Given the description of an element on the screen output the (x, y) to click on. 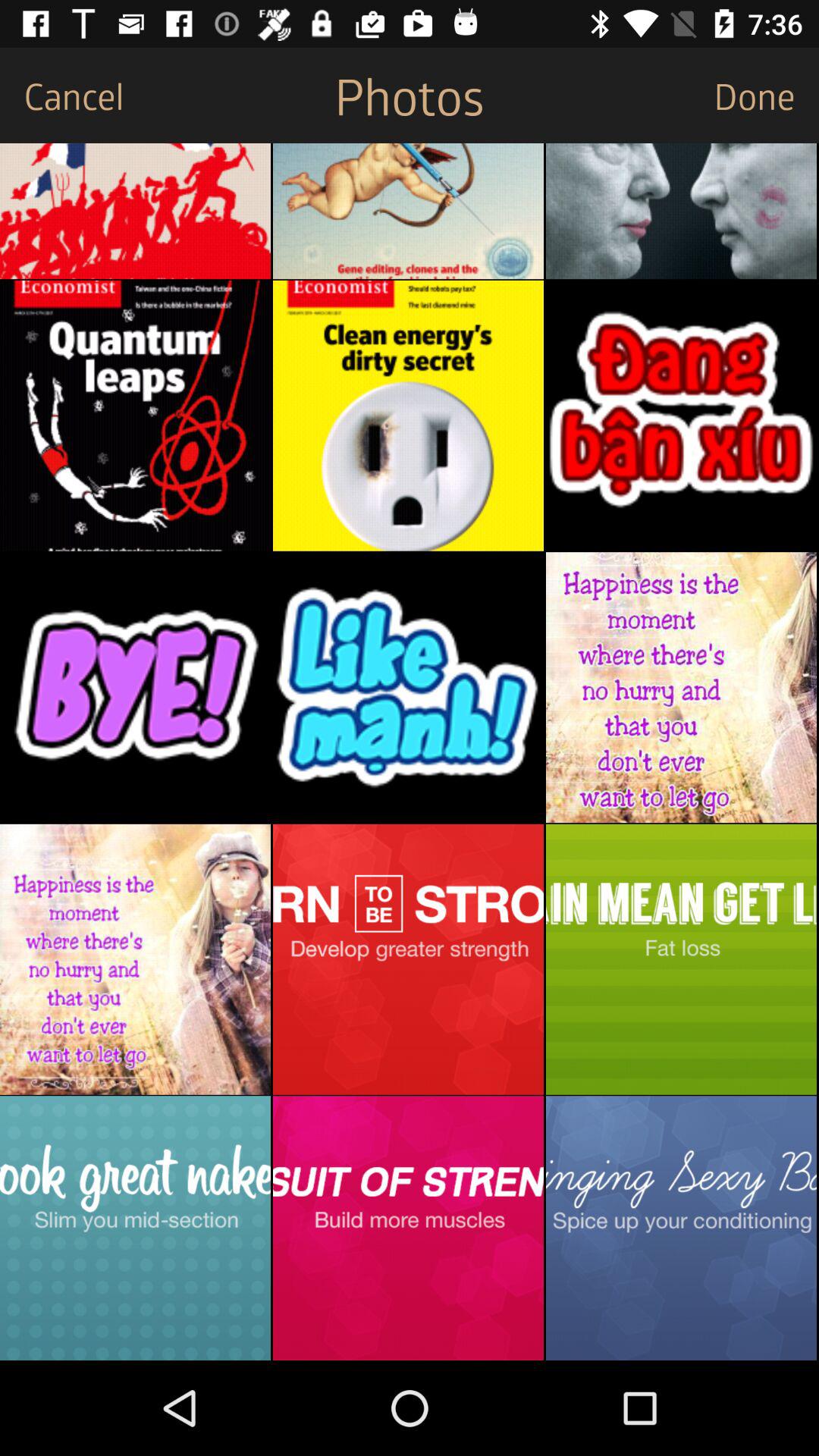
select photo (135, 959)
